Given the description of an element on the screen output the (x, y) to click on. 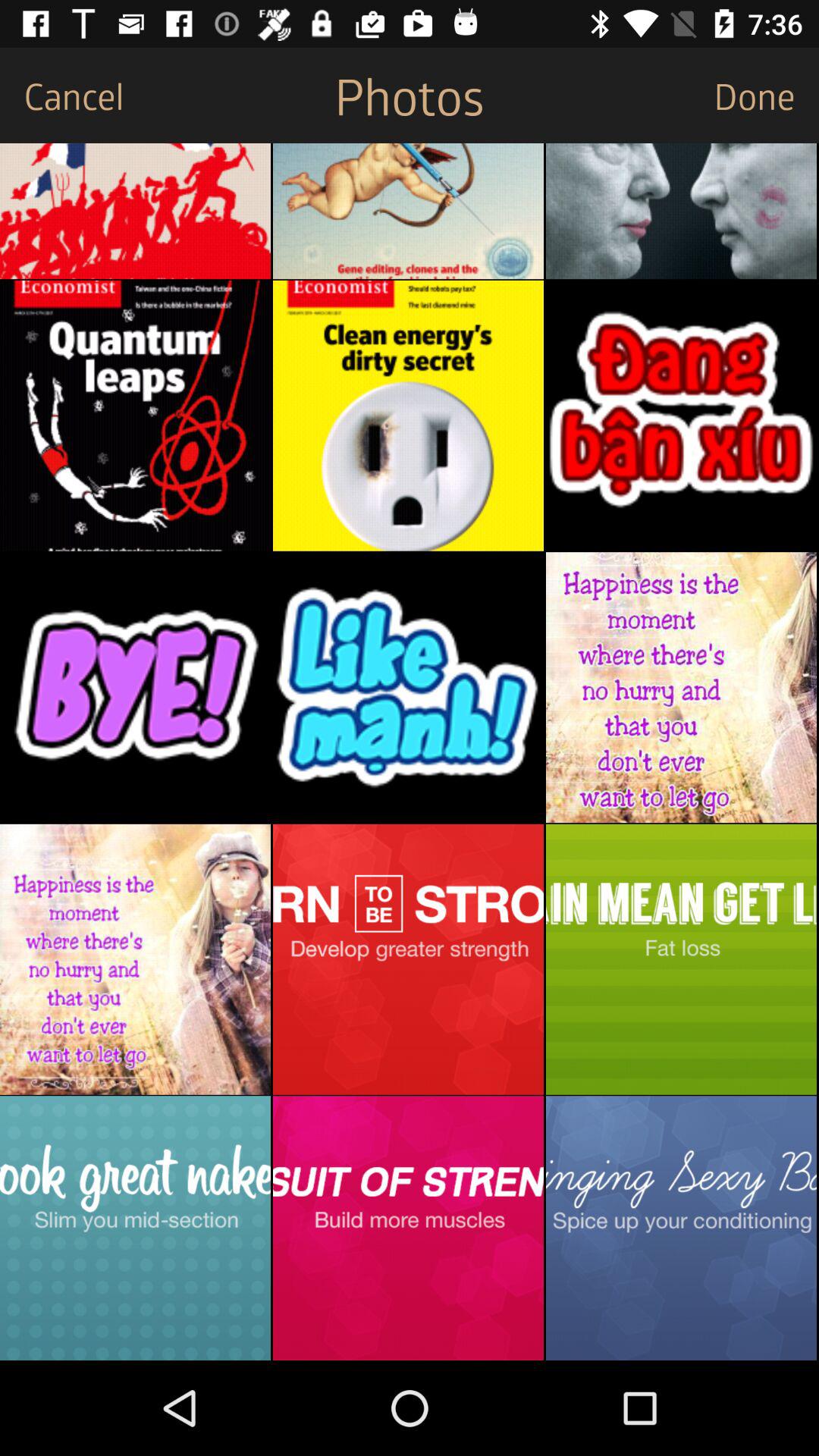
select photo (135, 959)
